Given the description of an element on the screen output the (x, y) to click on. 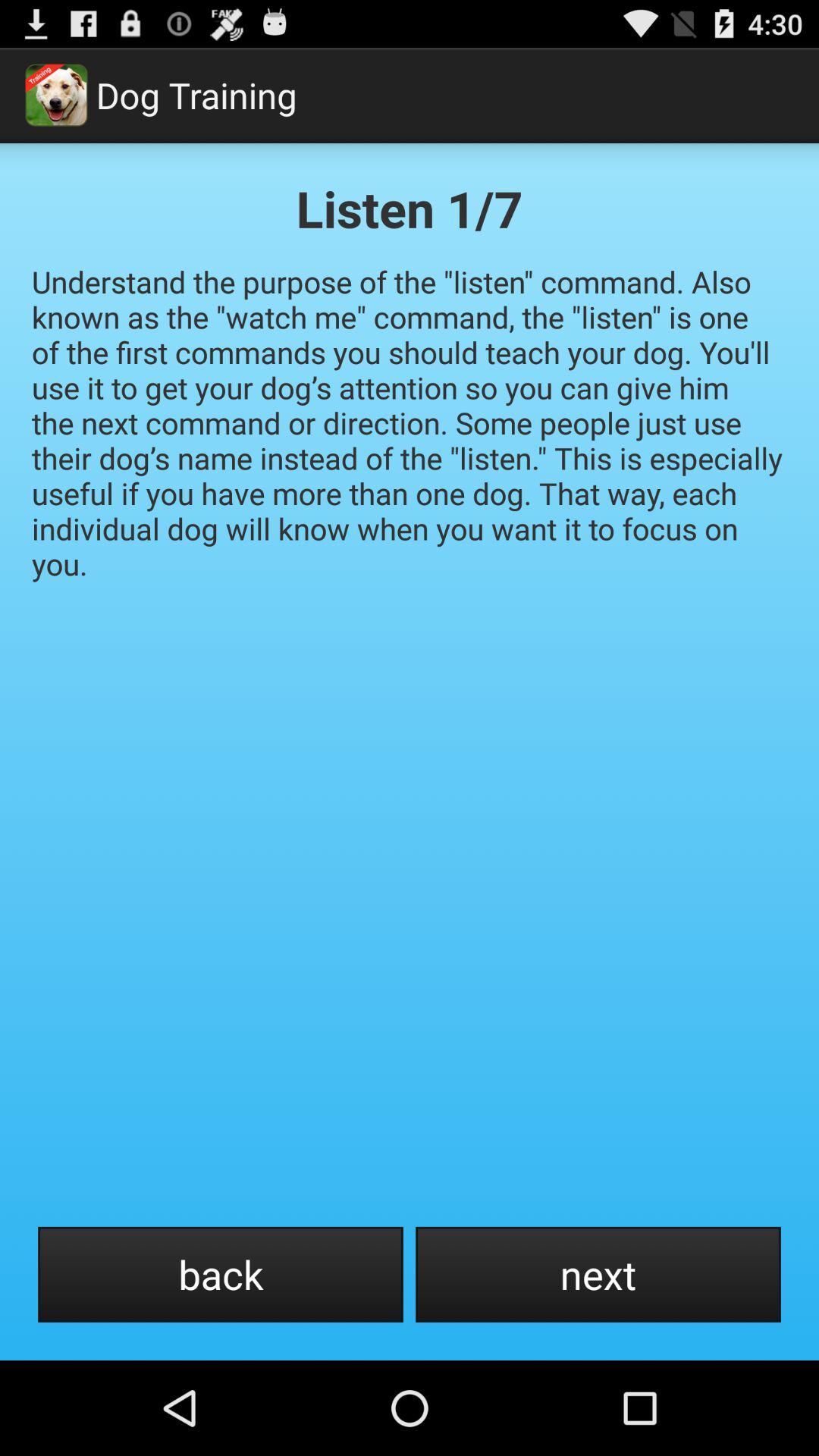
click icon below the understand the purpose icon (220, 1274)
